Given the description of an element on the screen output the (x, y) to click on. 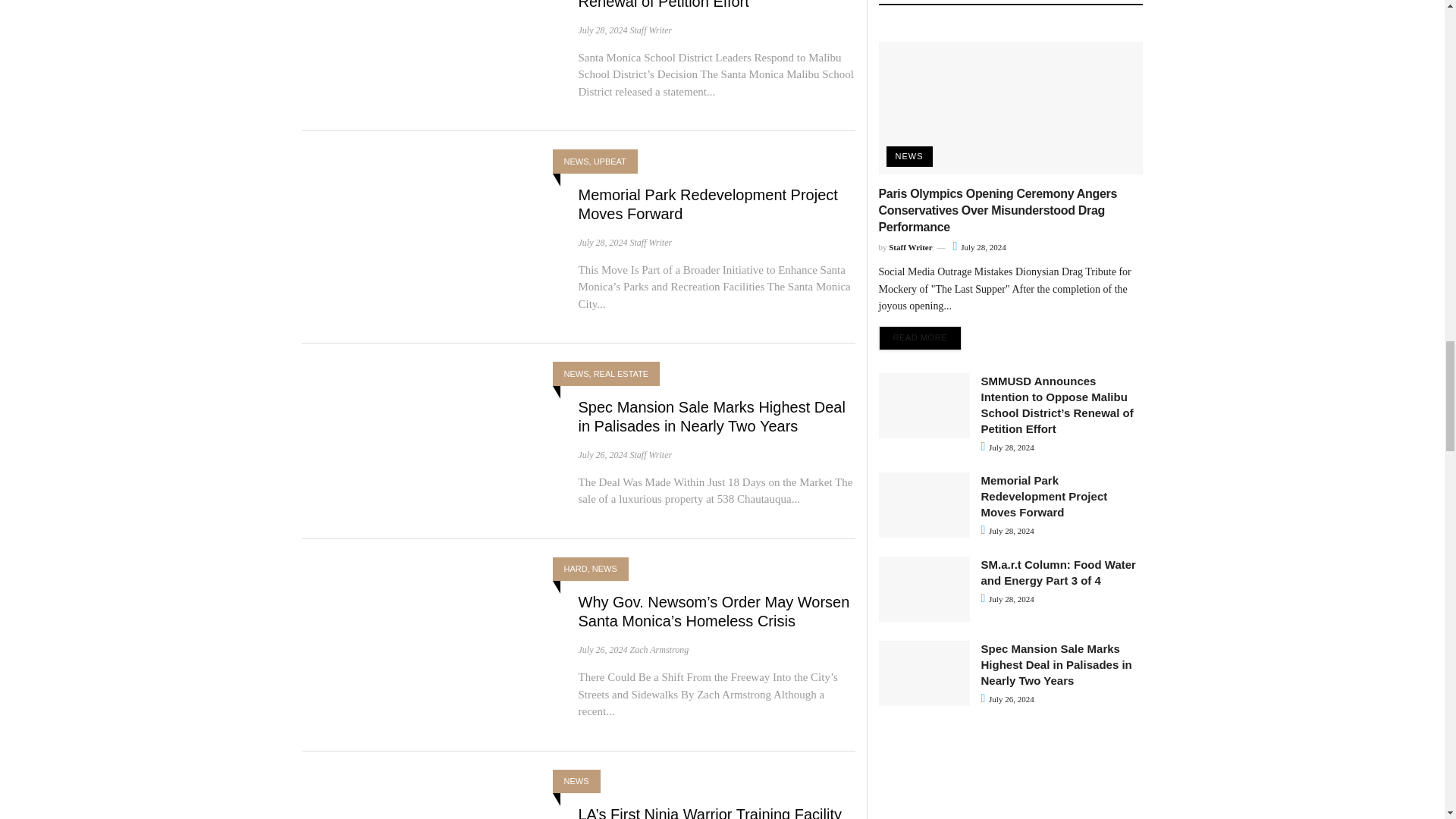
Memorial Park Redevelopment Project Moves Forward (707, 203)
Posts by Staff Writer (649, 241)
Posts by Staff Writer (649, 453)
Posts by Staff Writer (649, 29)
